Given the description of an element on the screen output the (x, y) to click on. 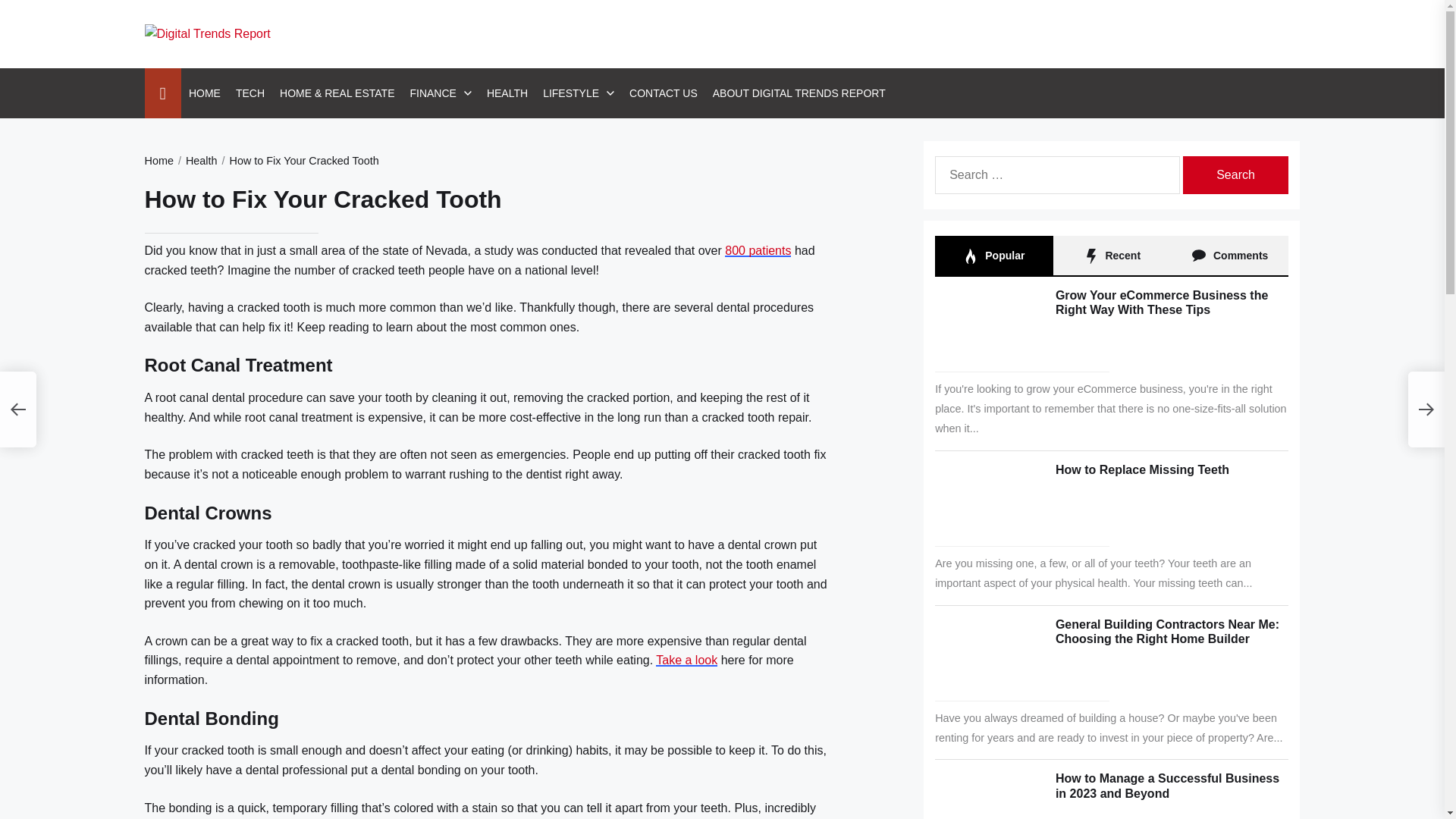
HOME (205, 93)
Home (158, 160)
Search (1235, 175)
FINANCE (432, 93)
ABOUT DIGITAL TRENDS REPORT (799, 93)
How to Fix Your Cracked Tooth (297, 160)
800 patients (757, 250)
TECH (249, 93)
How to Replace Missing Teeth (1141, 469)
Search (1235, 175)
HEALTH (506, 93)
How to Manage a Successful Business in 2023 and Beyond (1167, 785)
Grow Your eCommerce Business the Right Way With These Tips (1161, 302)
Take a look (686, 659)
